Given the description of an element on the screen output the (x, y) to click on. 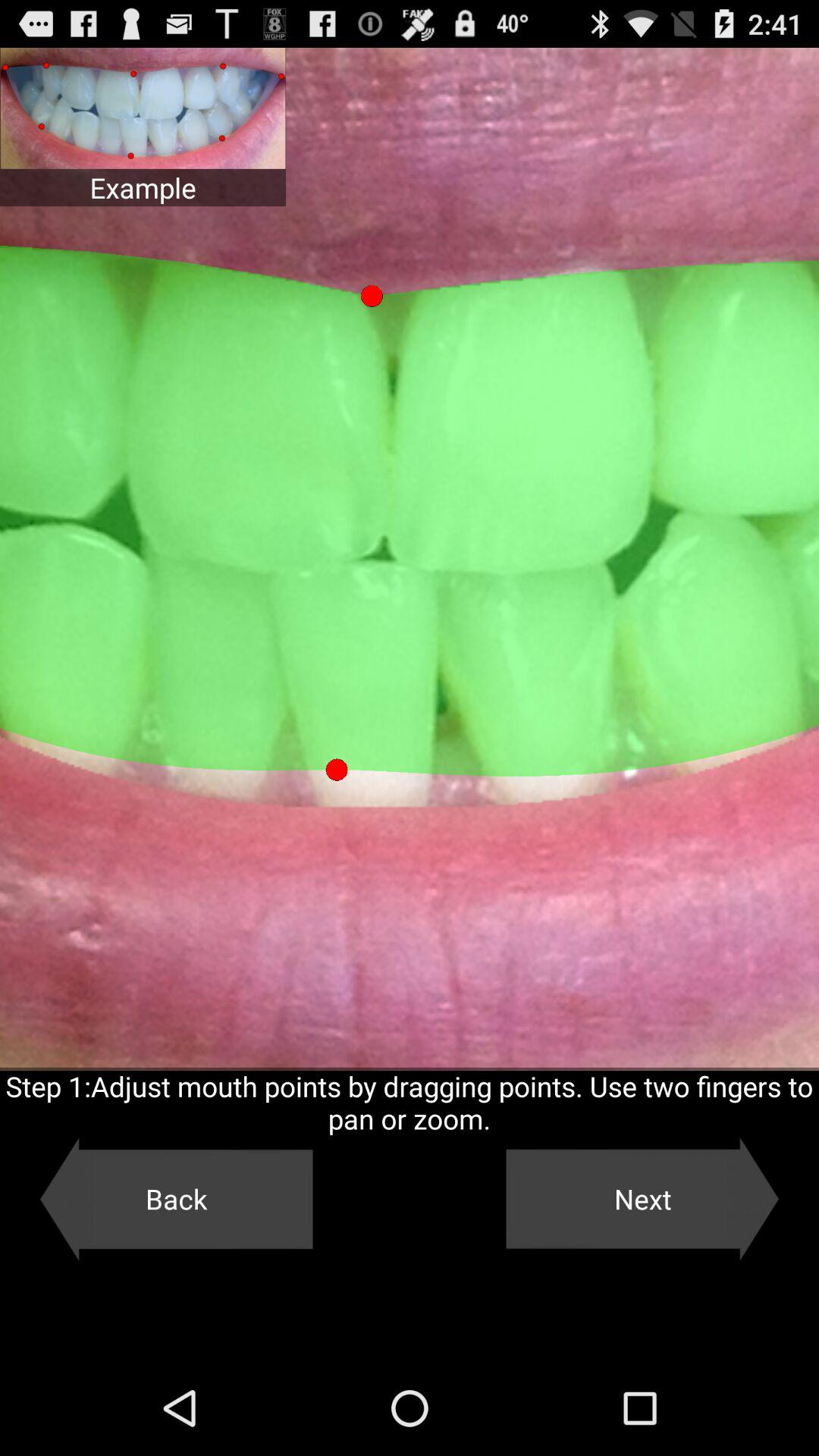
flip until the back button (175, 1198)
